Given the description of an element on the screen output the (x, y) to click on. 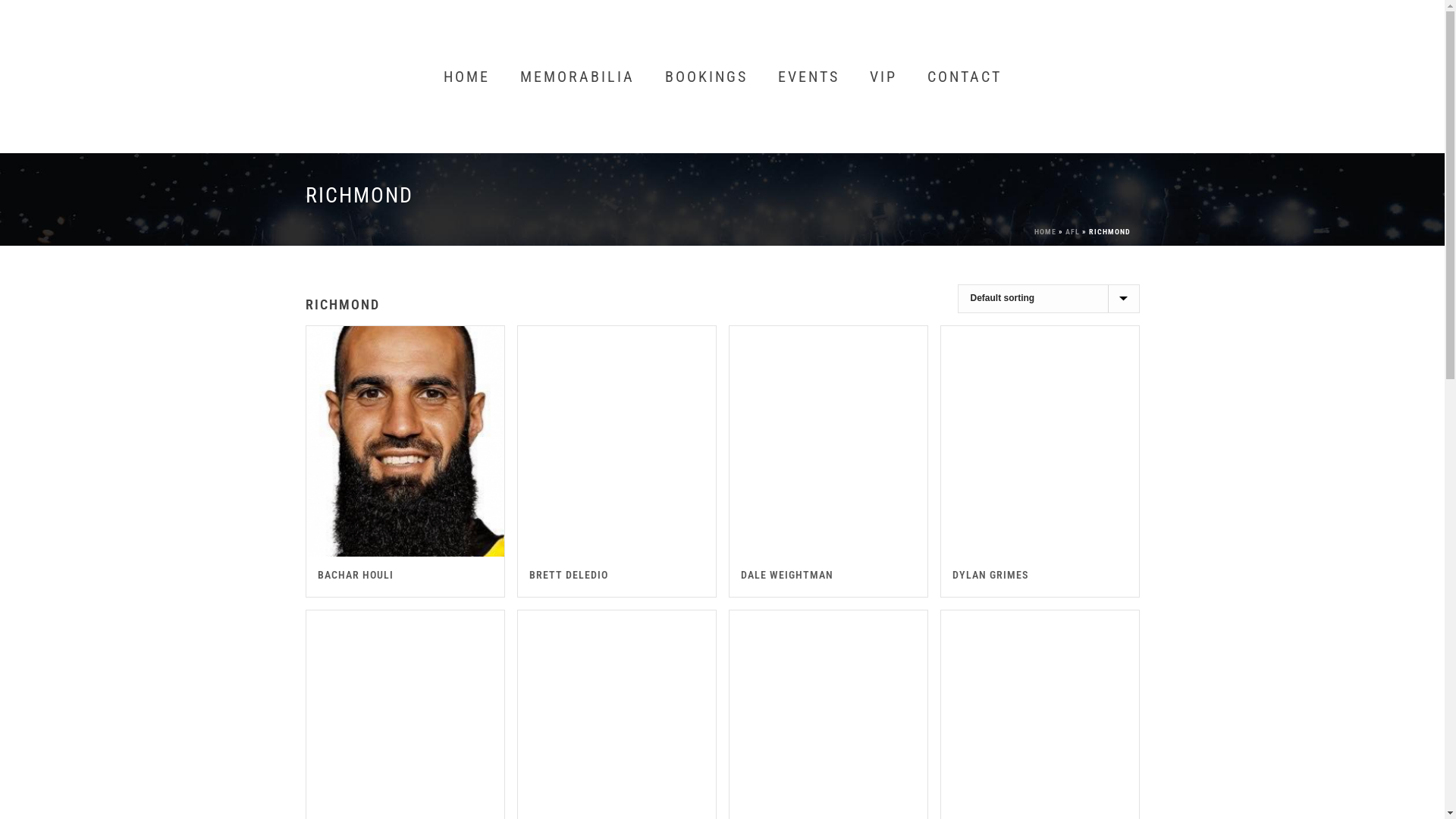
HOME Element type: text (1045, 231)
AFL Element type: text (1071, 231)
MEMORABILIA Element type: text (577, 76)
VIP Element type: text (882, 76)
Brett Deledio Element type: hover (616, 441)
BRETT DELEDIO Element type: text (568, 574)
Dylan Grimes Element type: hover (1039, 441)
Dale Weightman Element type: hover (828, 441)
HOME Element type: text (465, 76)
Bachar Houli Element type: hover (405, 441)
CONTACT Element type: text (963, 76)
BACHAR HOULI Element type: text (354, 574)
DALE WEIGHTMAN Element type: text (786, 574)
DYLAN GRIMES Element type: text (990, 574)
BOOKINGS Element type: text (705, 76)
EVENTS Element type: text (808, 76)
